Given the description of an element on the screen output the (x, y) to click on. 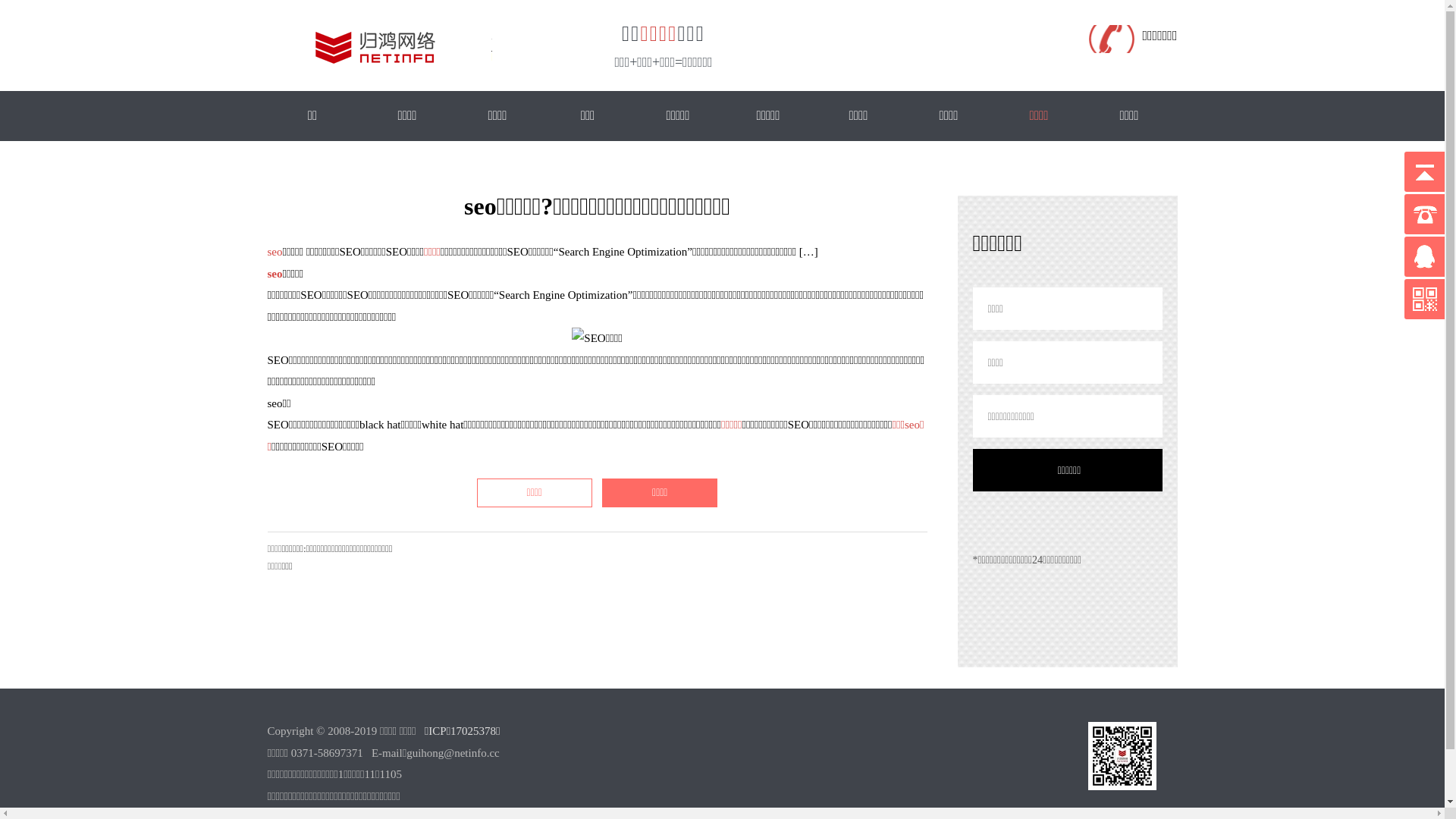
seo Element type: text (274, 272)
seo Element type: text (274, 251)
